Given the description of an element on the screen output the (x, y) to click on. 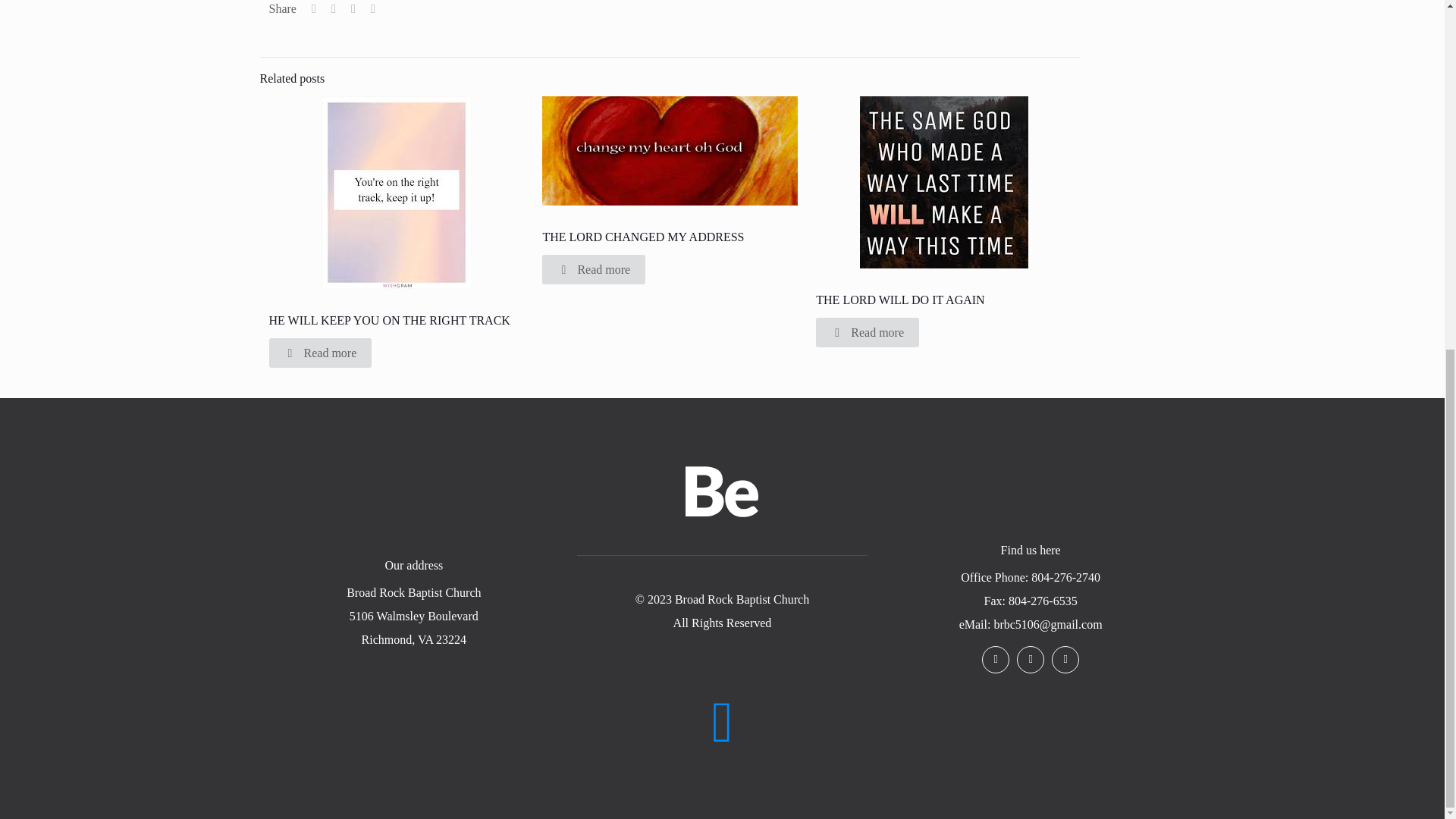
WordPress Login (721, 710)
Read more (319, 352)
HE WILL KEEP YOU ON THE RIGHT TRACK (388, 319)
